Given the description of an element on the screen output the (x, y) to click on. 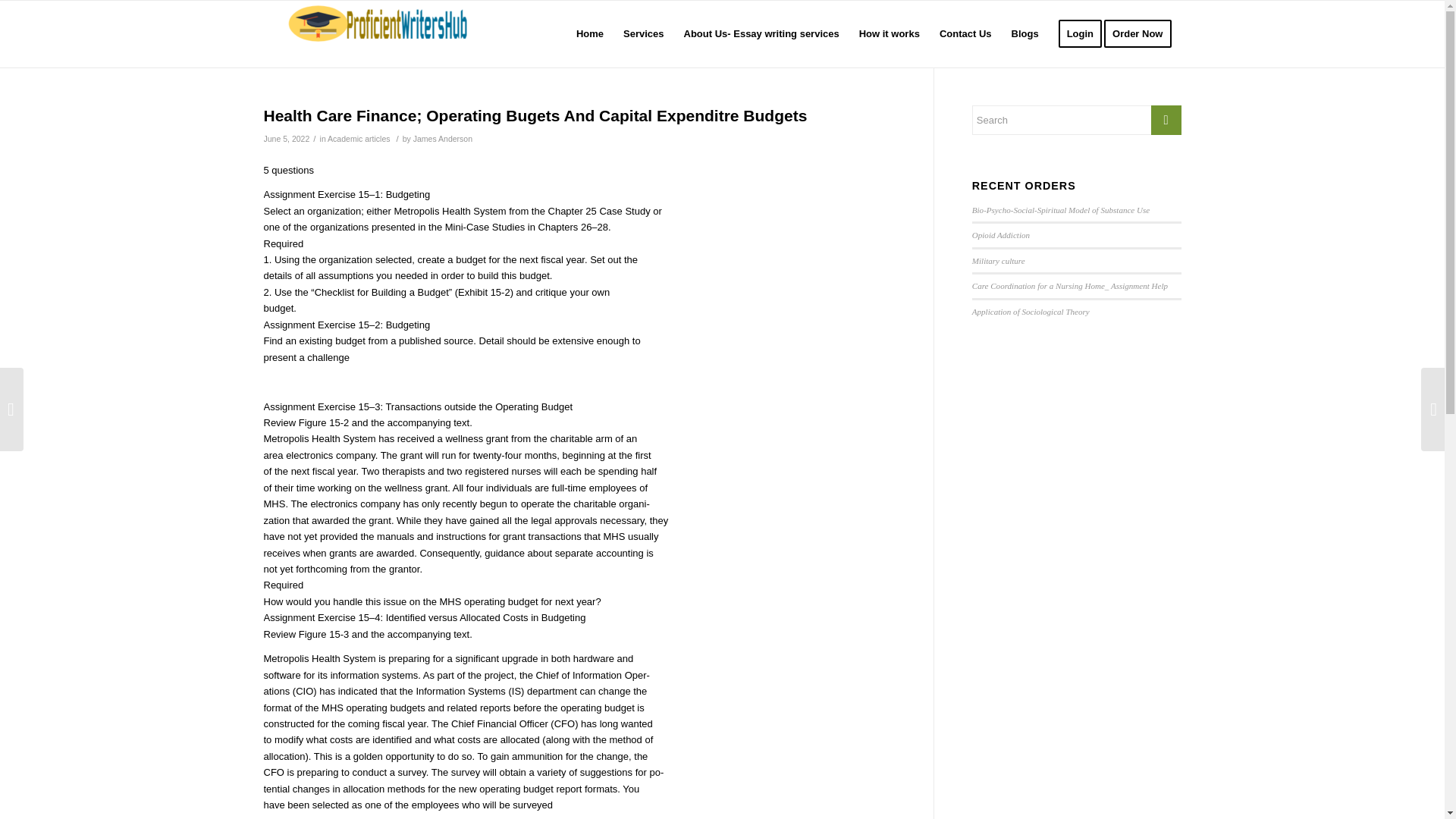
Order Now (1141, 33)
Login (1080, 33)
James Anderson (442, 138)
Opioid Addiction (1000, 234)
Academic articles (358, 138)
How it works (889, 33)
Military culture (998, 260)
Services (643, 33)
Application of Sociological Theory (1030, 311)
Contact Us (965, 33)
Bio-Psycho-Social-Spiritual Model of Substance Use (1061, 209)
About Us- Essay writing services (761, 33)
Posts by James Anderson (442, 138)
